Given the description of an element on the screen output the (x, y) to click on. 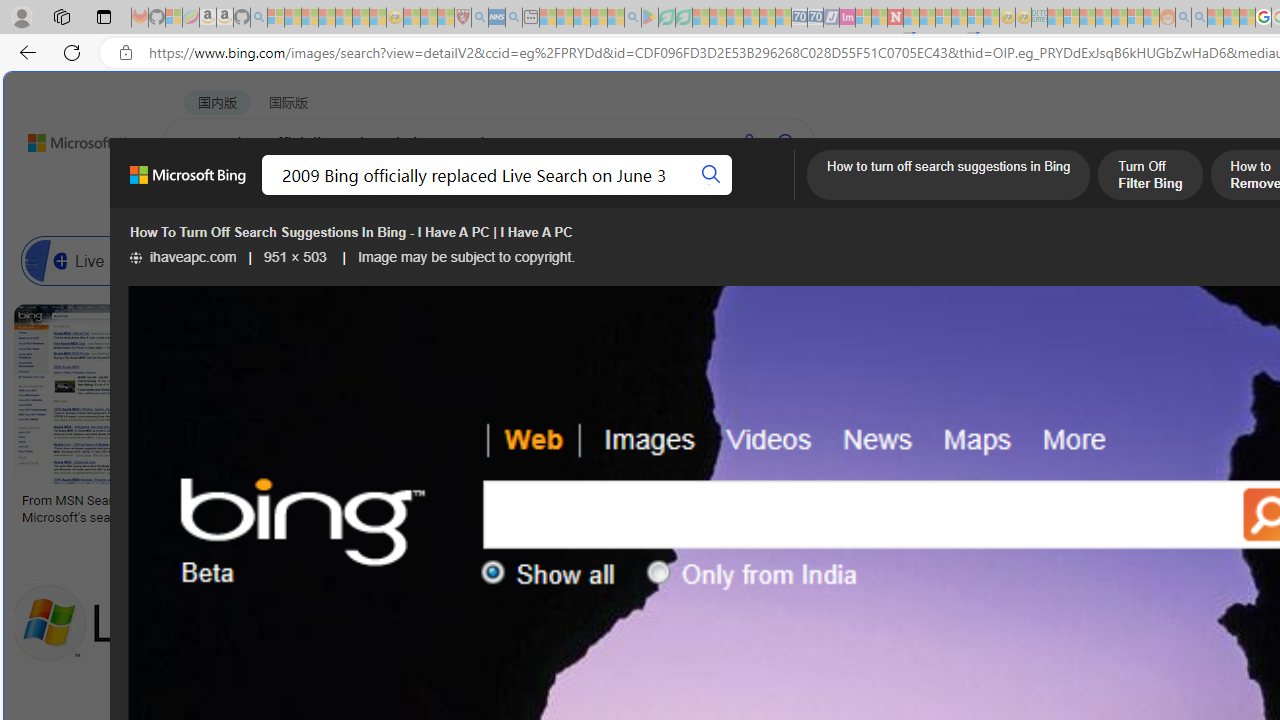
Cheap Hotels - Save70.com - Sleeping (815, 17)
Bing Picture Search Engine (395, 260)
Robert H. Shmerling, MD - Harvard Health - Sleeping (462, 17)
ihaveapc.com (183, 257)
ACADEMIC (635, 195)
The Weather Channel - MSN - Sleeping (309, 17)
MY BING (276, 195)
Trusted Community Engagement and Contributions | Guidelines (911, 17)
MSNBC - MSN - Sleeping (1055, 17)
Bing Picture Search Engine (492, 260)
